Given the description of an element on the screen output the (x, y) to click on. 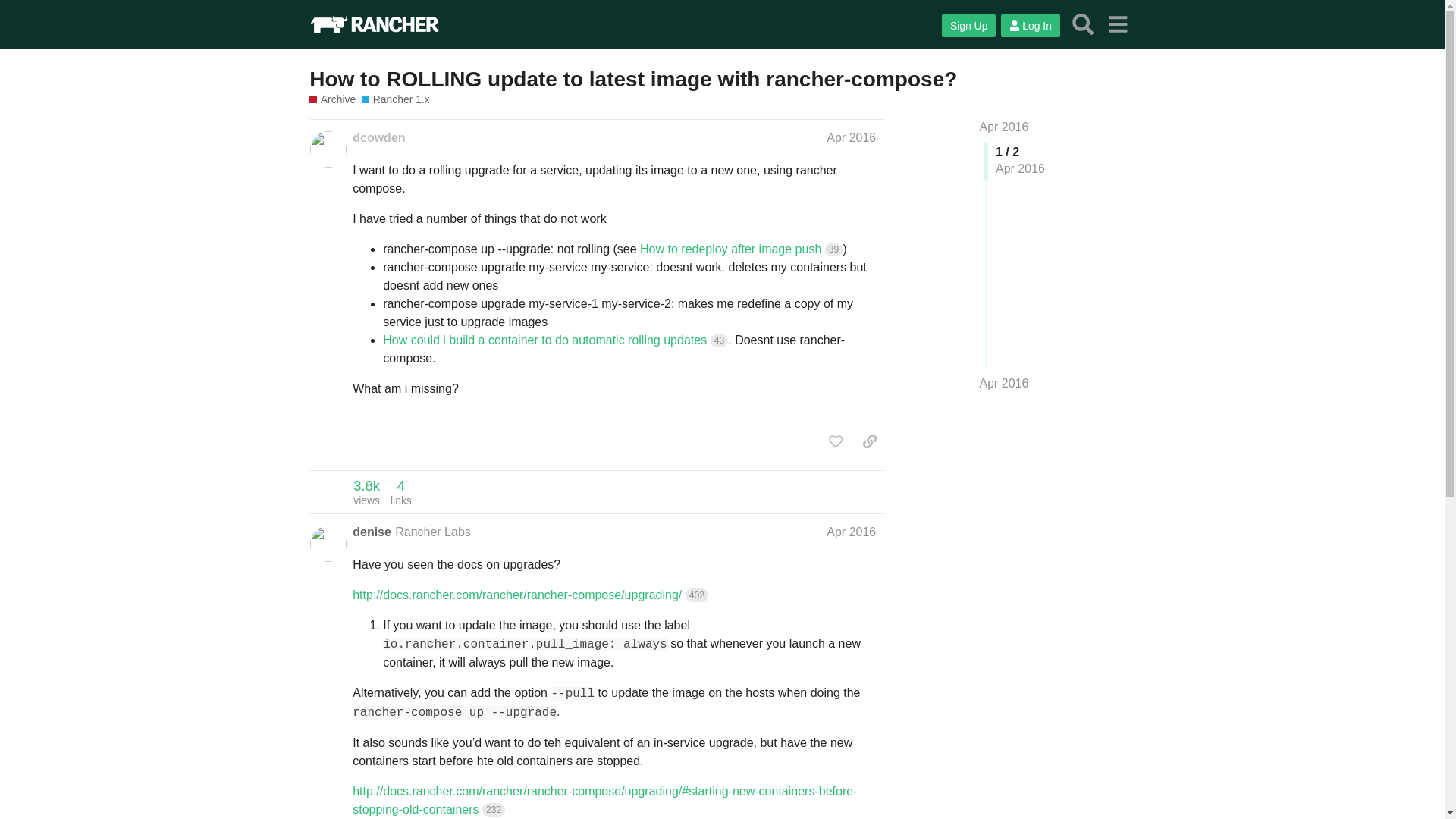
39 clicks (834, 249)
like this post (366, 491)
232 clicks (835, 441)
How to redeploy after image push 39 (493, 809)
Apr 2016 (741, 248)
Post date (1004, 126)
copy a link to this post to clipboard (851, 530)
Apr 2016 (869, 441)
Jump to the first post (851, 530)
